Given the description of an element on the screen output the (x, y) to click on. 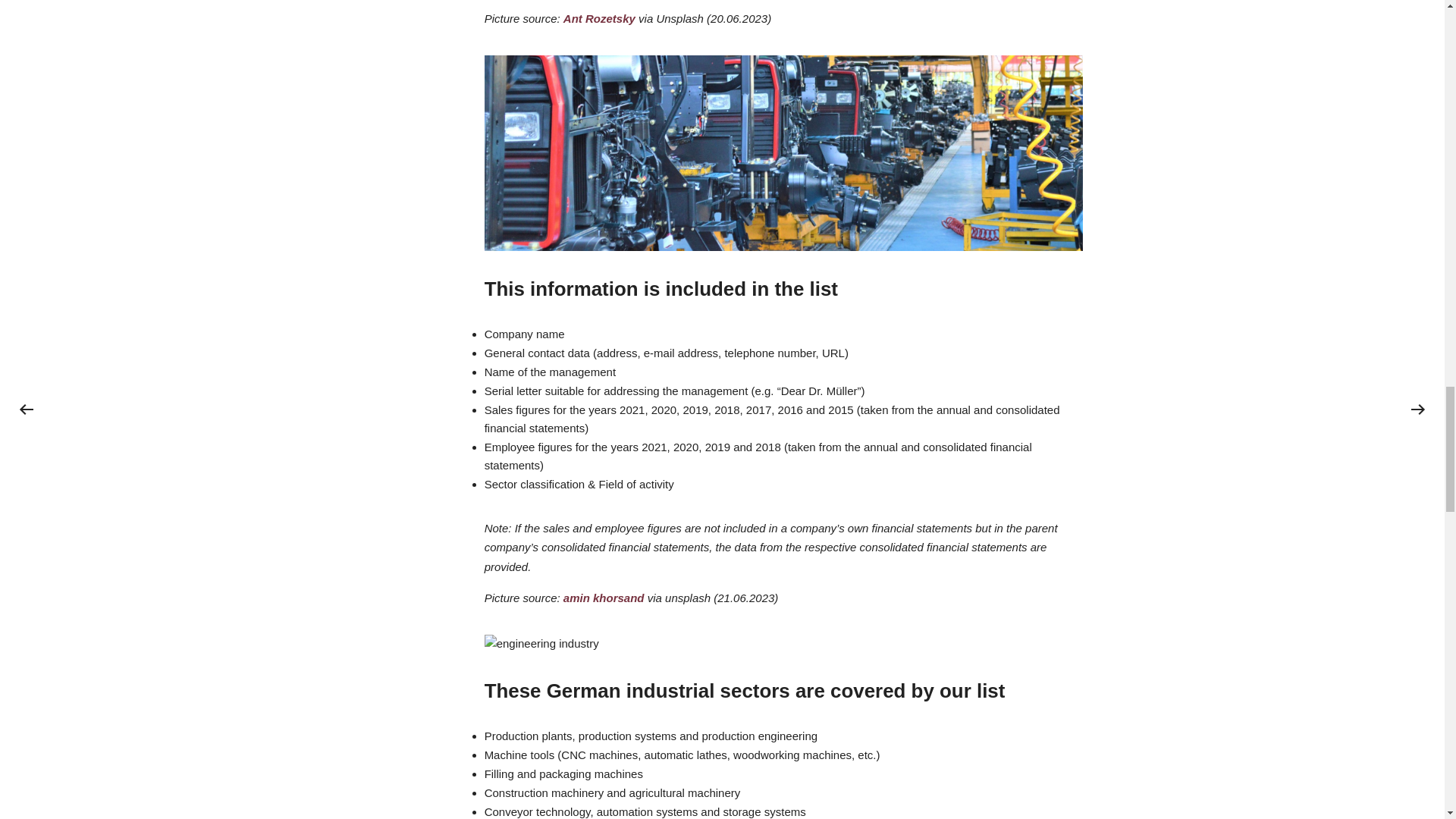
engineering industry (541, 643)
amin khorsand (604, 597)
Ant Rozetsky (598, 18)
machine building (783, 152)
